Given the description of an element on the screen output the (x, y) to click on. 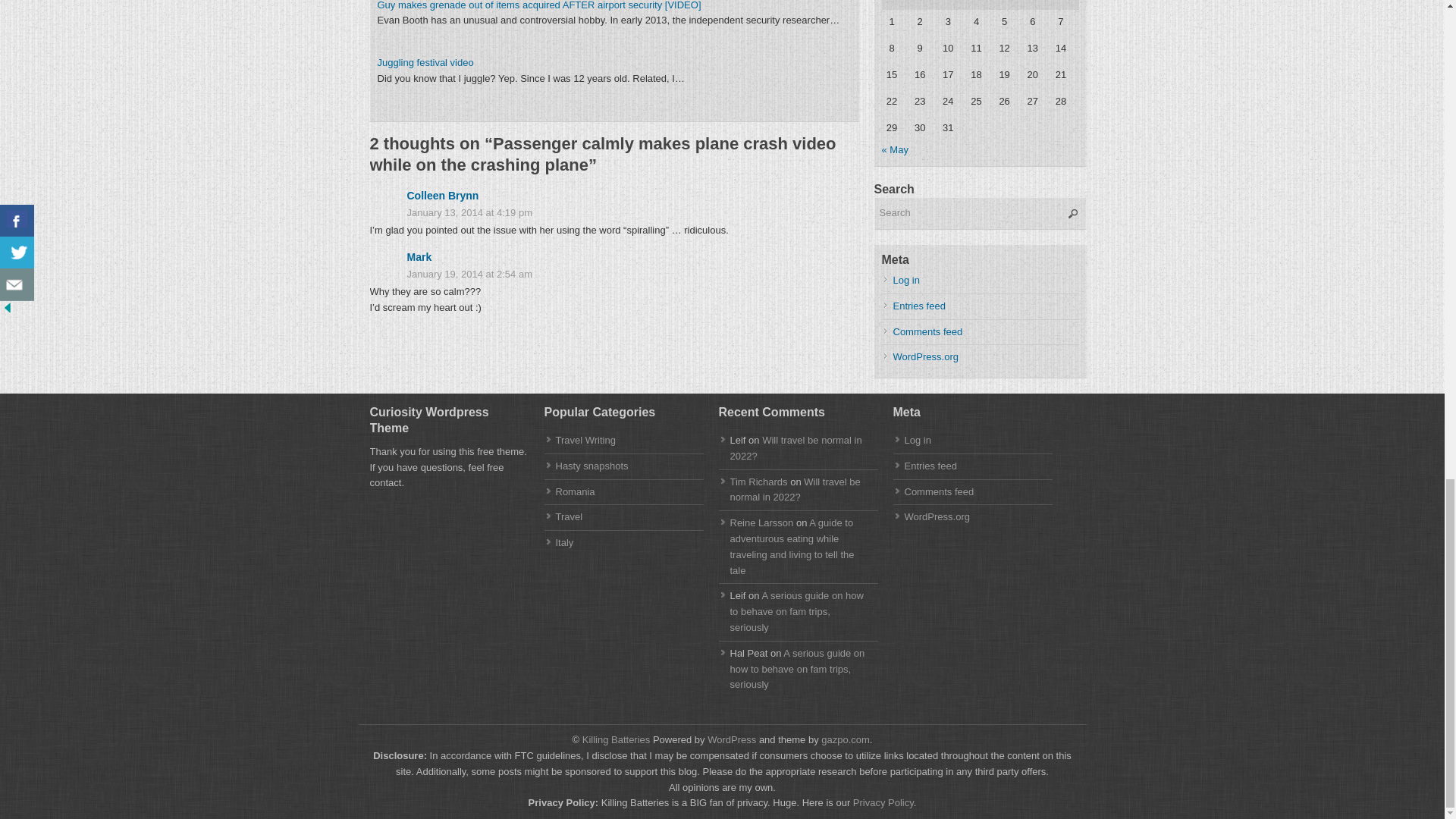
Entries feed (918, 306)
Killing Batteries (614, 739)
Sunday (1063, 4)
Will travel be normal in 2022? (795, 447)
WordPress.org (936, 516)
Mark (418, 256)
Italy (563, 542)
Tuesday (923, 4)
Search (979, 213)
A serious guide on how to behave on fam trips, seriously (796, 669)
